Given the description of an element on the screen output the (x, y) to click on. 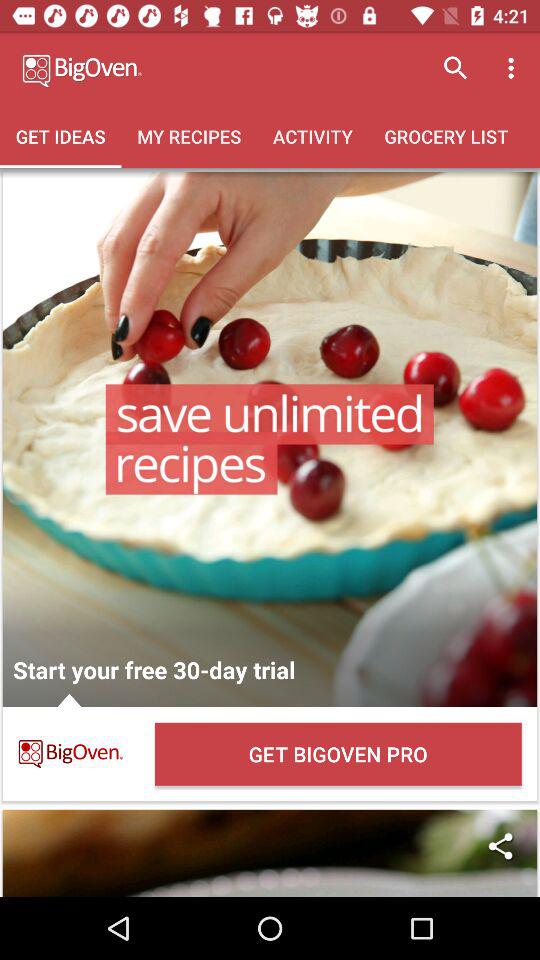
click icon above the grocery list icon (513, 67)
